Given the description of an element on the screen output the (x, y) to click on. 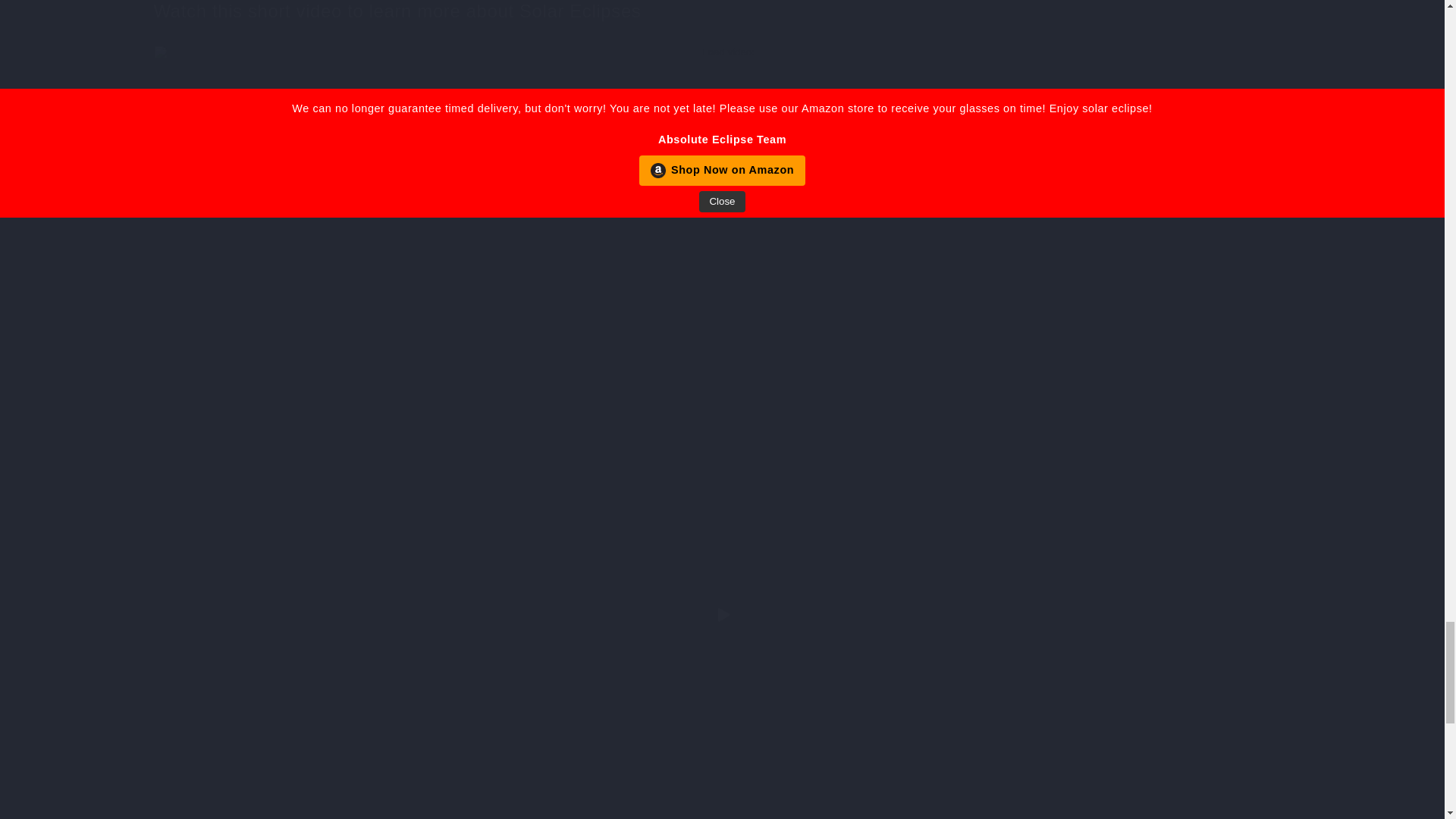
Watch this short video to learn more about Solar Eclipses (721, 11)
